Given the description of an element on the screen output the (x, y) to click on. 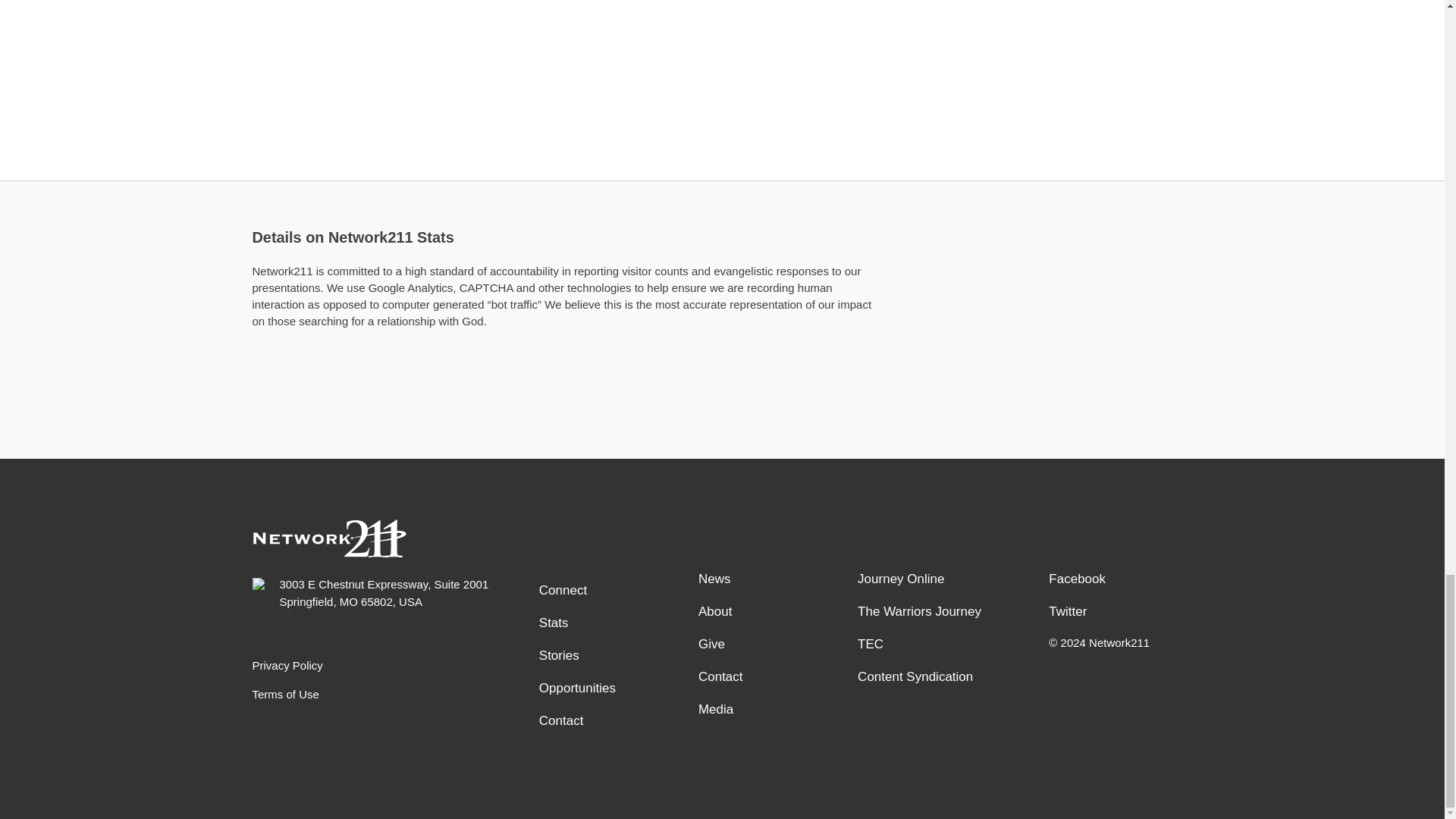
Contact (610, 721)
The Warriors Journey (929, 611)
Journey Online (929, 578)
Connect (610, 590)
Stats (610, 622)
Stories (610, 655)
Opportunities (610, 688)
TEC (929, 644)
About (769, 611)
Give (769, 644)
Contact (769, 676)
Media (769, 709)
News (769, 578)
Privacy Policy (386, 665)
Terms of Use (386, 693)
